Given the description of an element on the screen output the (x, y) to click on. 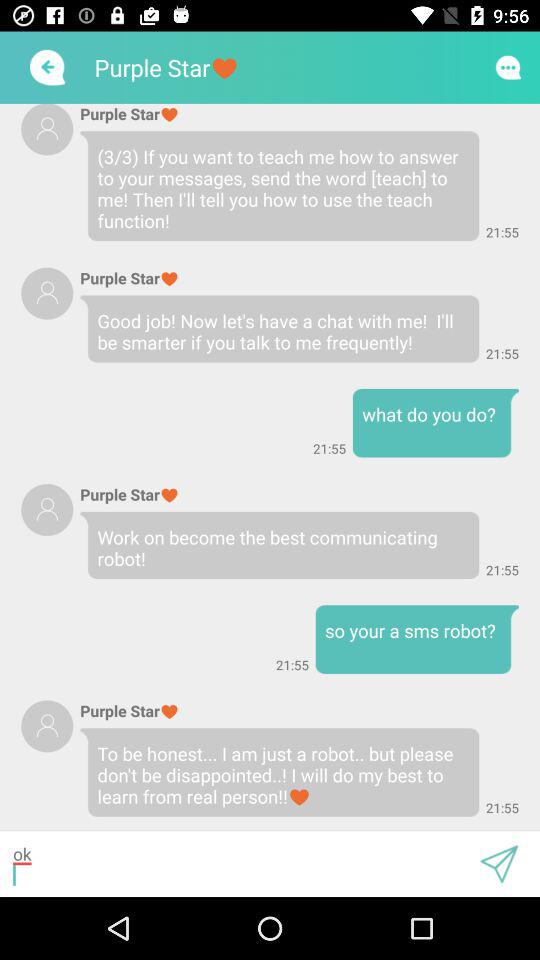
open user profile (47, 726)
